Given the description of an element on the screen output the (x, y) to click on. 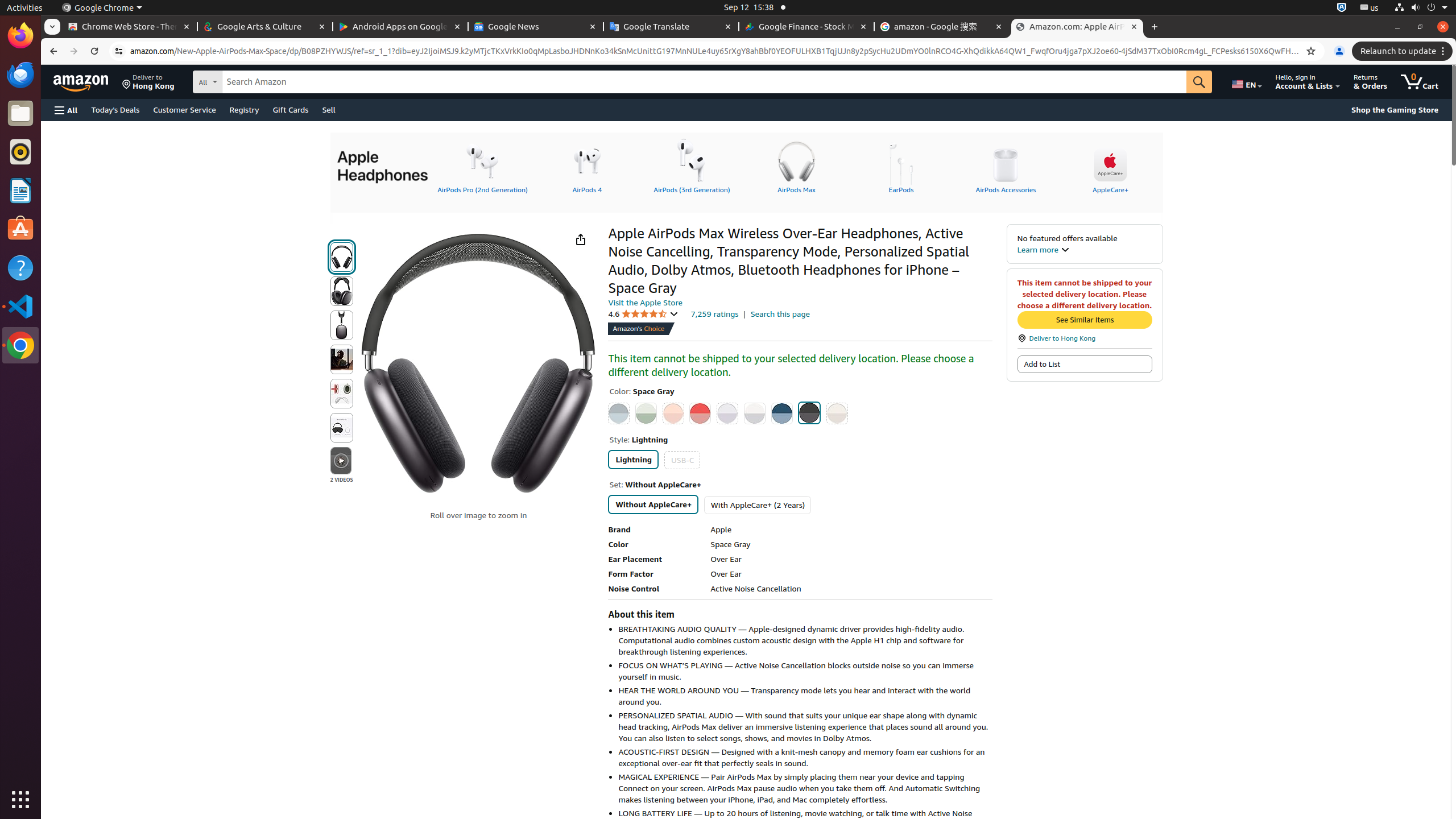
Registry Element type: link (244, 109)
See Similar Items Element type: push-button (1084, 319)
Without AppleCare+ Element type: push-button (653, 504)
Shop the Gaming Store Element type: link (1394, 109)
View site information Element type: push-button (118, 51)
